Given the description of an element on the screen output the (x, y) to click on. 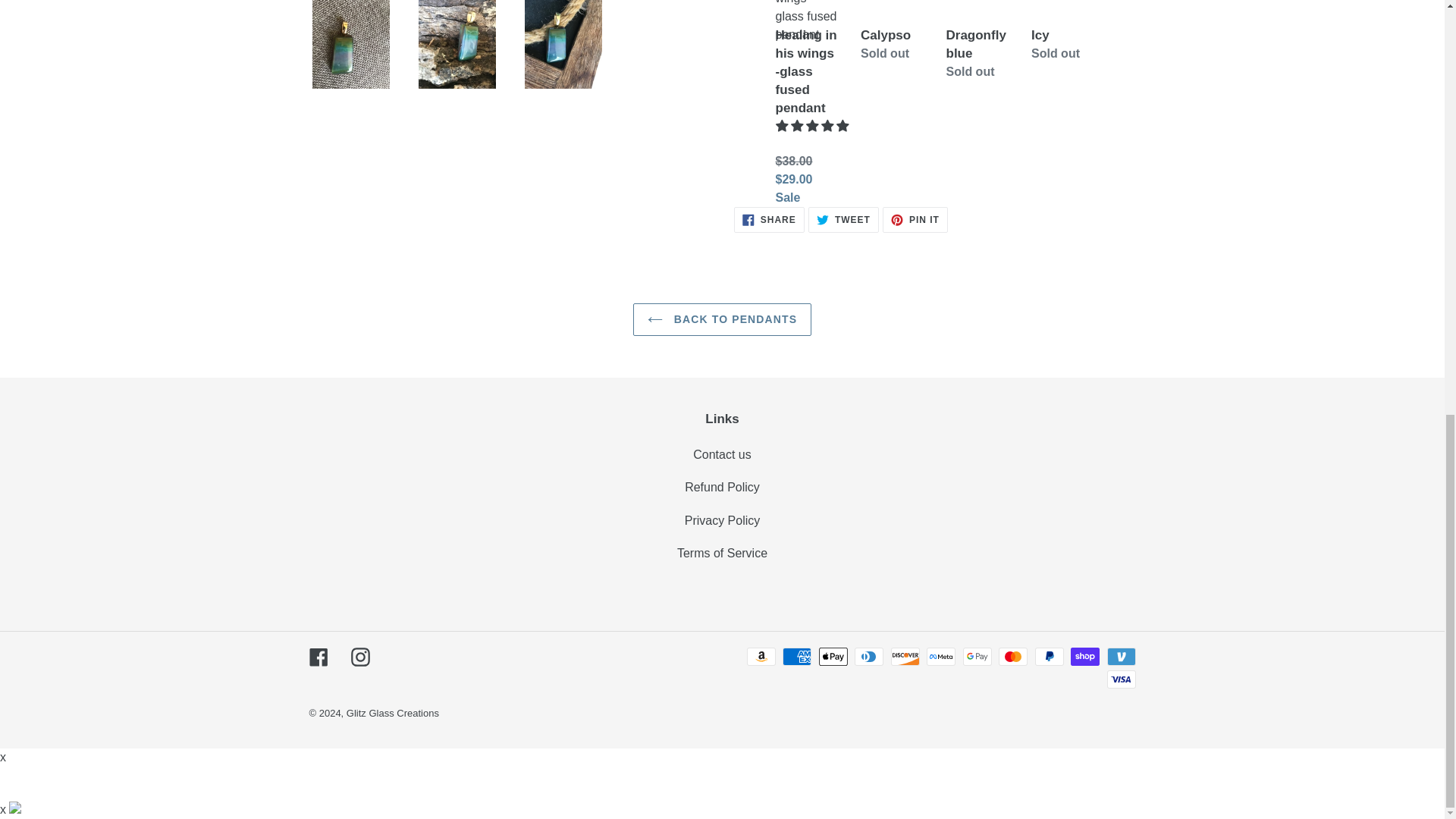
Privacy Policy (722, 520)
Icy (843, 219)
Contact (914, 219)
Returns and Refund Policy (1062, 31)
Terms of Service (718, 454)
Calypso (722, 486)
